Given the description of an element on the screen output the (x, y) to click on. 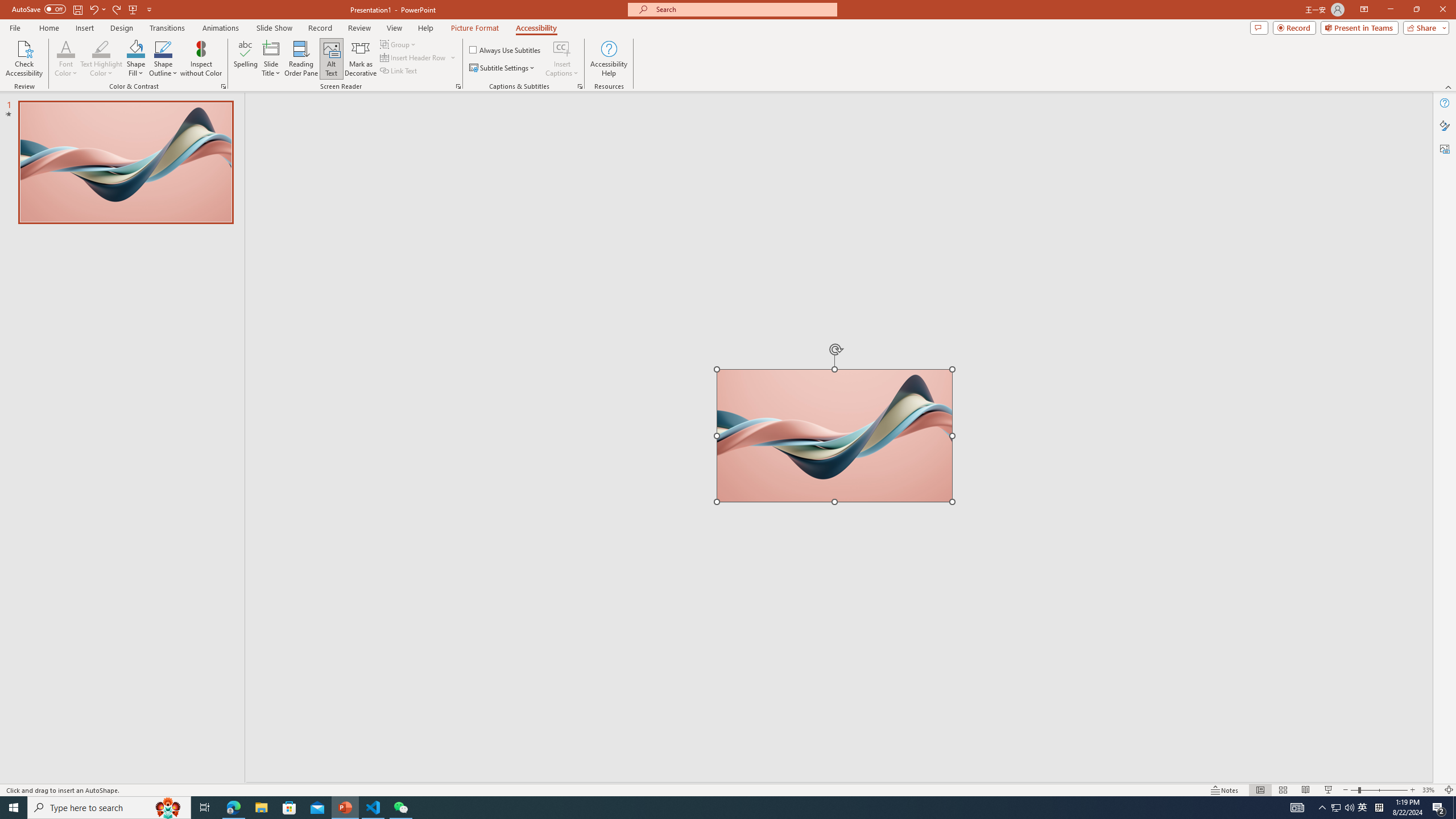
Zoom 33% (1430, 790)
Format Picture (1444, 125)
